Given the description of an element on the screen output the (x, y) to click on. 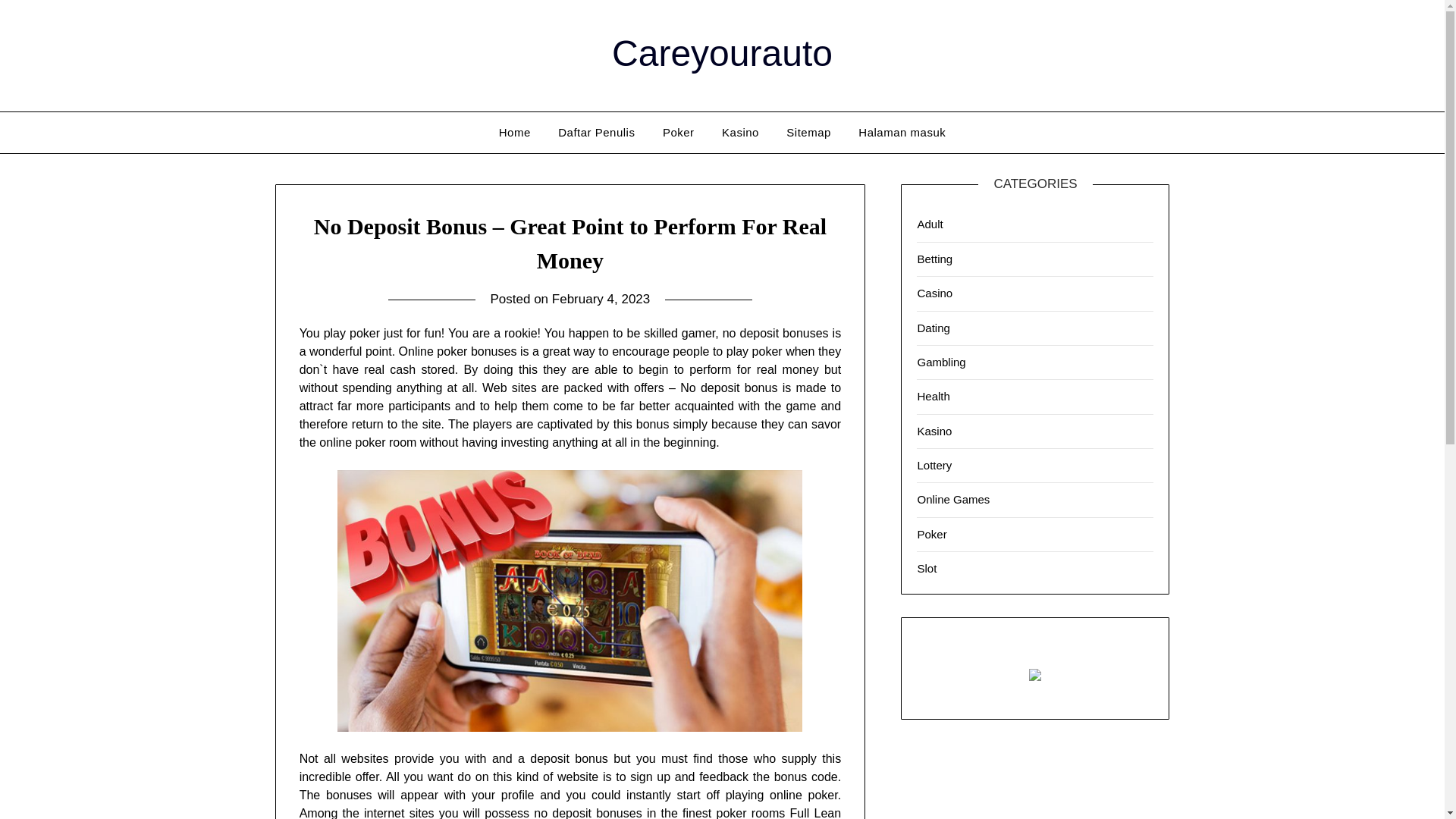
Daftar Penulis (596, 132)
Online Games (953, 499)
Dating (933, 327)
Slot (926, 567)
Kasino (740, 132)
February 4, 2023 (600, 298)
Kasino (934, 431)
Home (514, 132)
Careyourauto (721, 53)
Poker (931, 533)
